Given the description of an element on the screen output the (x, y) to click on. 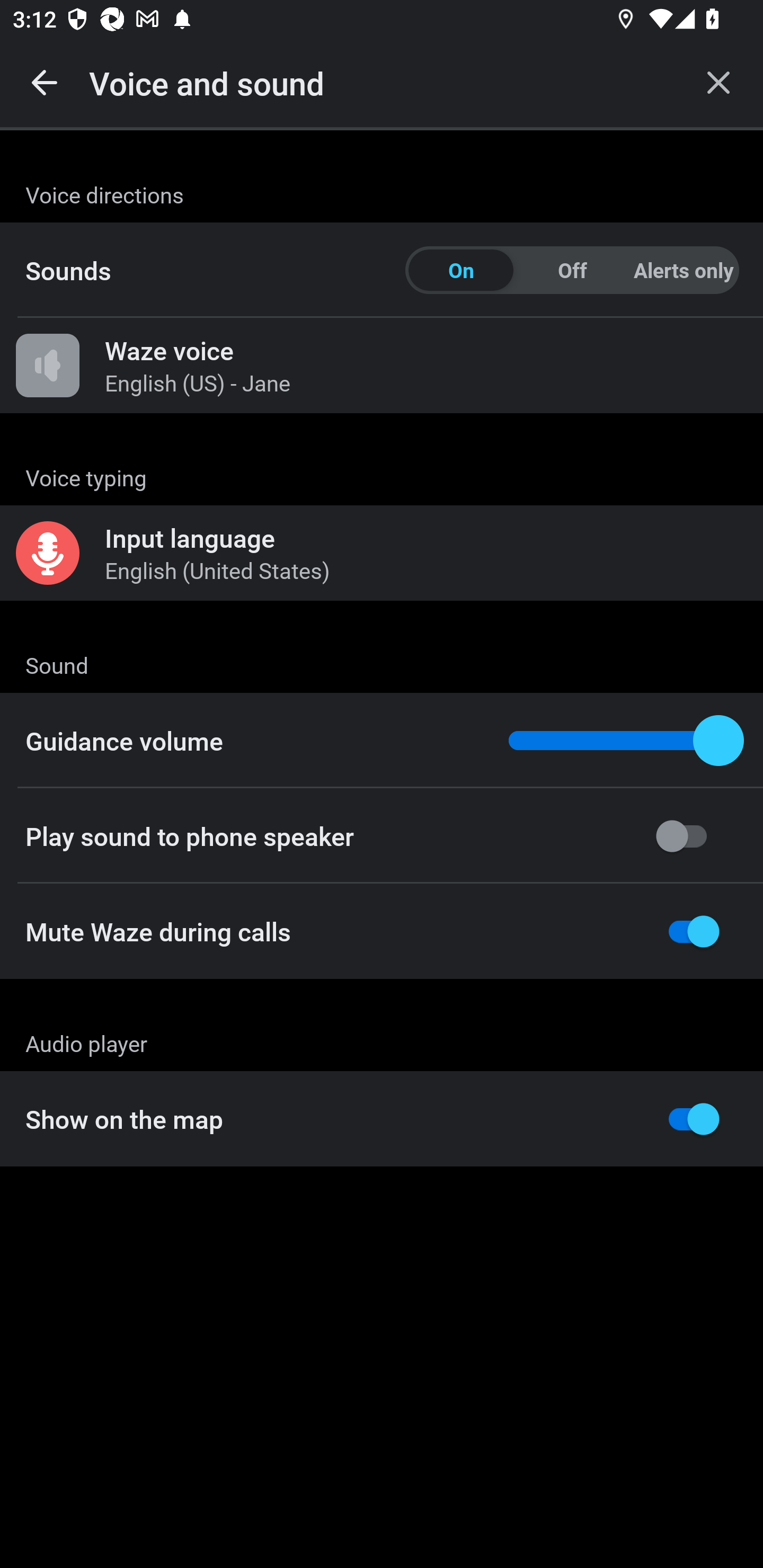
Waze voice English (US) - Jane (381, 365)
Input language English (United States) (381, 552)
Play sound to phone speaker (381, 836)
Mute Waze during calls (381, 931)
Show on the map (381, 1118)
